Given the description of an element on the screen output the (x, y) to click on. 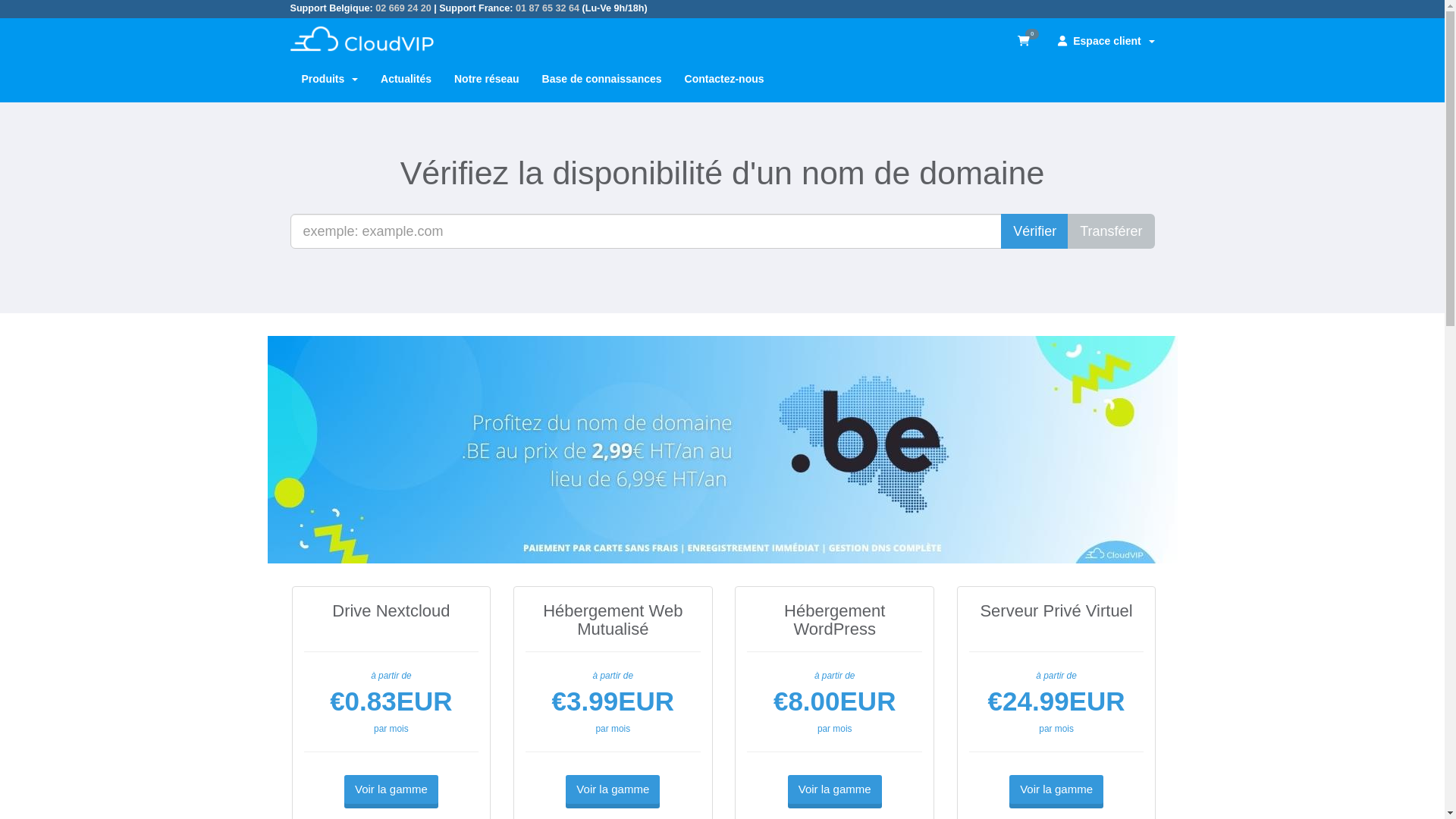
0 Element type: text (1026, 40)
Voir la gamme Element type: text (1056, 789)
Contactez-nous Element type: text (724, 78)
  Espace client   Element type: text (1105, 40)
Voir la gamme Element type: text (391, 789)
Voir la gamme Element type: text (612, 789)
02 669 24 20 Element type: text (403, 8)
01 87 65 32 64 Element type: text (547, 8)
Voir la gamme Element type: text (834, 789)
Produits   Element type: text (329, 78)
Base de connaissances Element type: text (601, 78)
